Given the description of an element on the screen output the (x, y) to click on. 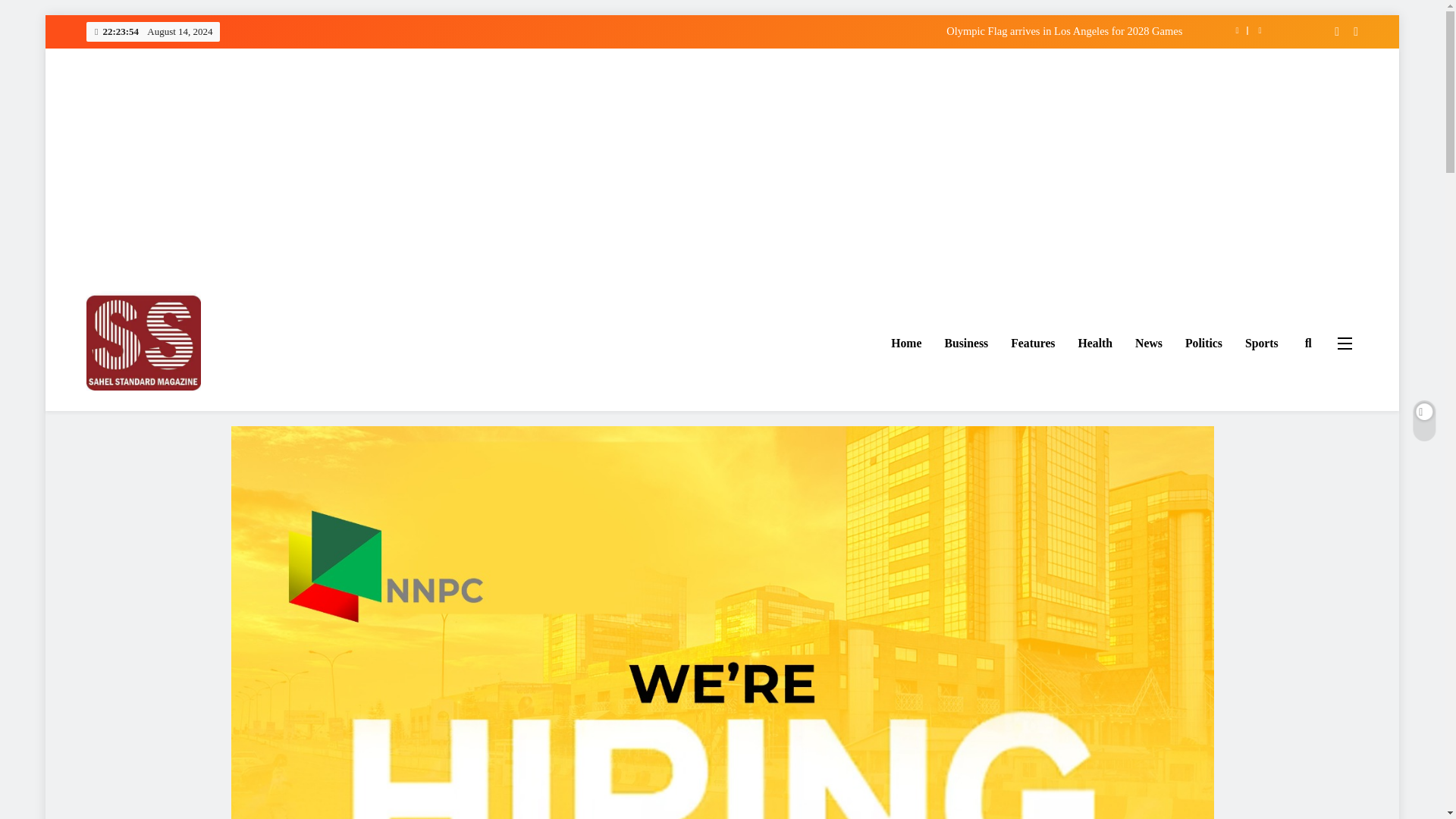
Business (965, 342)
Sahel Standard (162, 412)
Health (1095, 342)
Sports (1261, 342)
Olympic Flag arrives in Los Angeles for 2028 Games (761, 30)
Features (1031, 342)
Olympic Flag arrives in Los Angeles for 2028 Games (761, 30)
Home (906, 342)
